Given the description of an element on the screen output the (x, y) to click on. 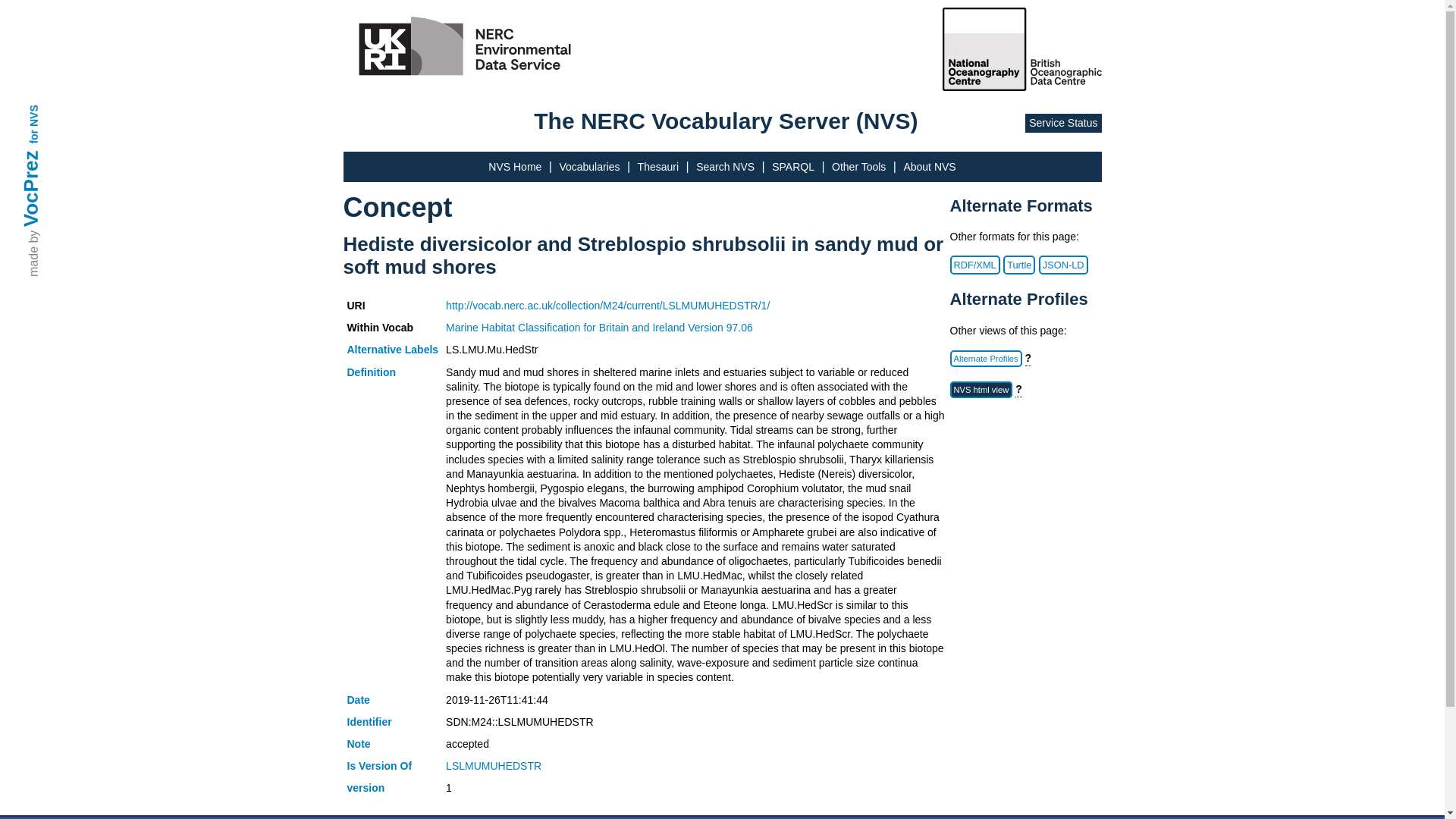
for NVS (46, 110)
Alternative Labels (393, 349)
Note (359, 743)
About NVS (928, 166)
LSLMUMUHEDSTR (493, 766)
SPARQL (792, 166)
Turtle (1019, 264)
Search NVS (724, 166)
Is Version Of (379, 766)
Alternate Profiles (985, 358)
Vocabularies (589, 166)
Thesauri (657, 166)
Identifier (369, 721)
version (366, 787)
